Given the description of an element on the screen output the (x, y) to click on. 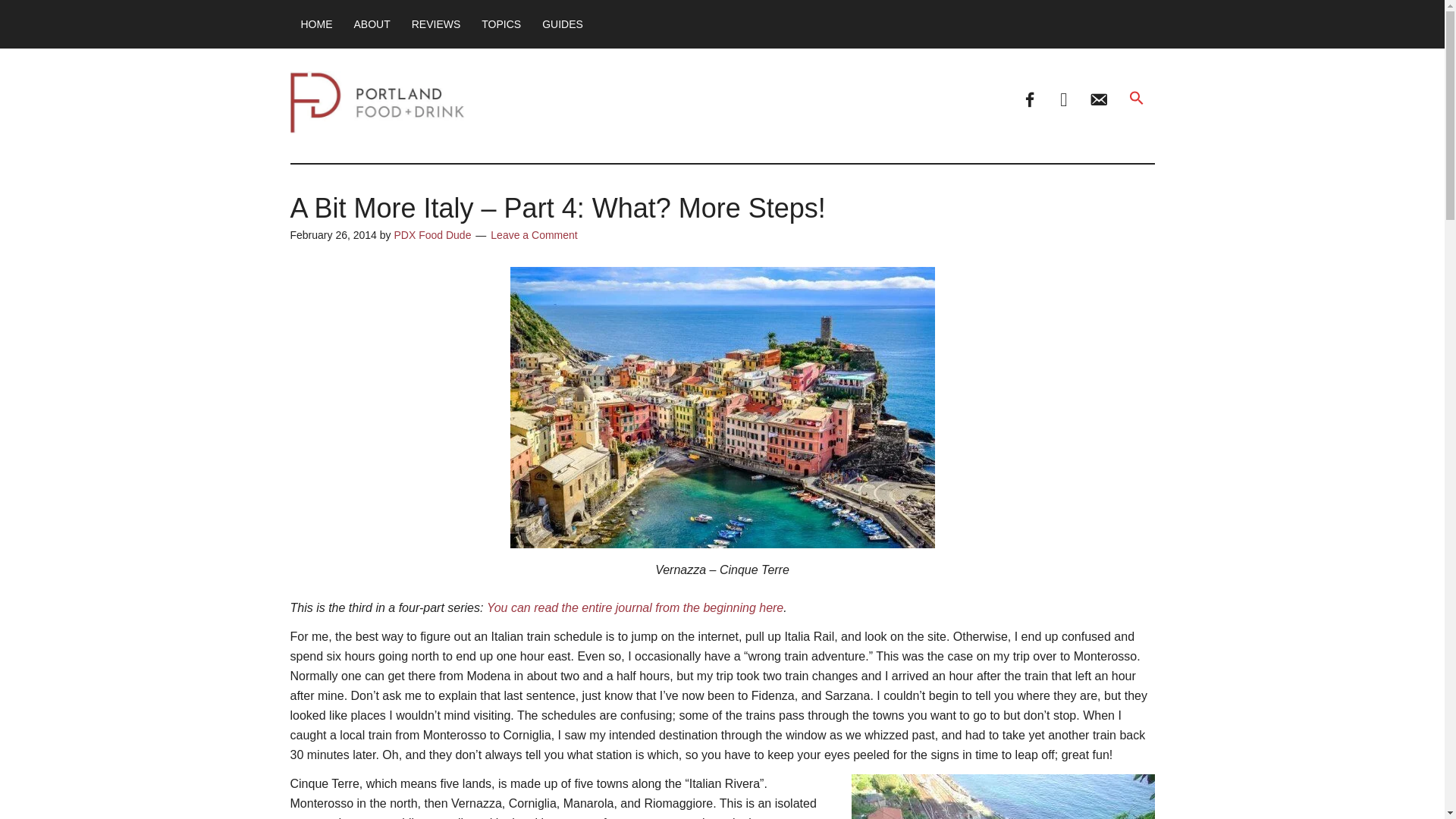
Topics (500, 23)
TOPICS (500, 23)
Review list (436, 23)
ABOUT (371, 23)
GUIDES (562, 23)
Homepage (315, 23)
REVIEWS (436, 23)
HOME (315, 23)
